Given the description of an element on the screen output the (x, y) to click on. 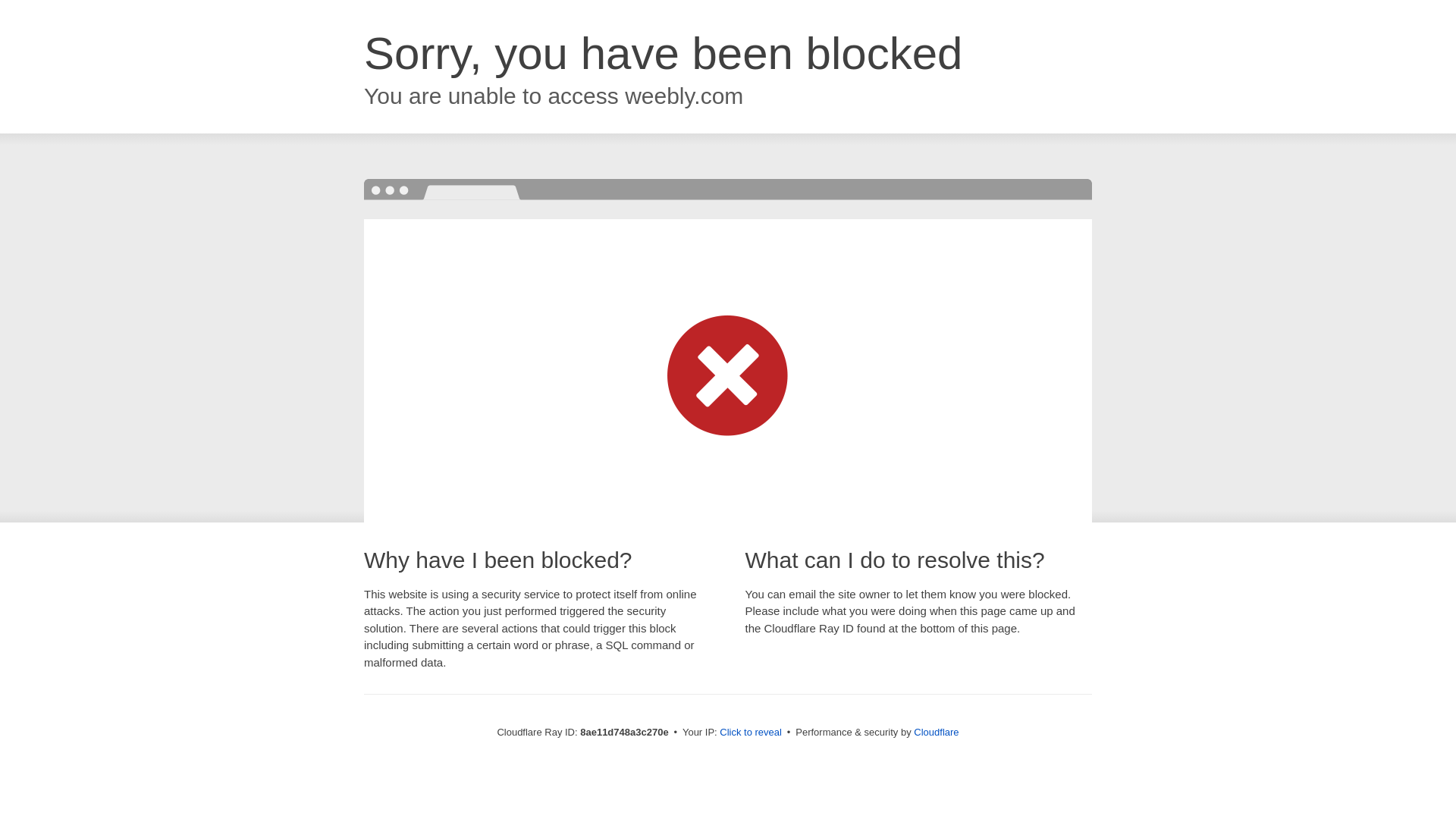
Cloudflare (936, 731)
Click to reveal (750, 732)
